Given the description of an element on the screen output the (x, y) to click on. 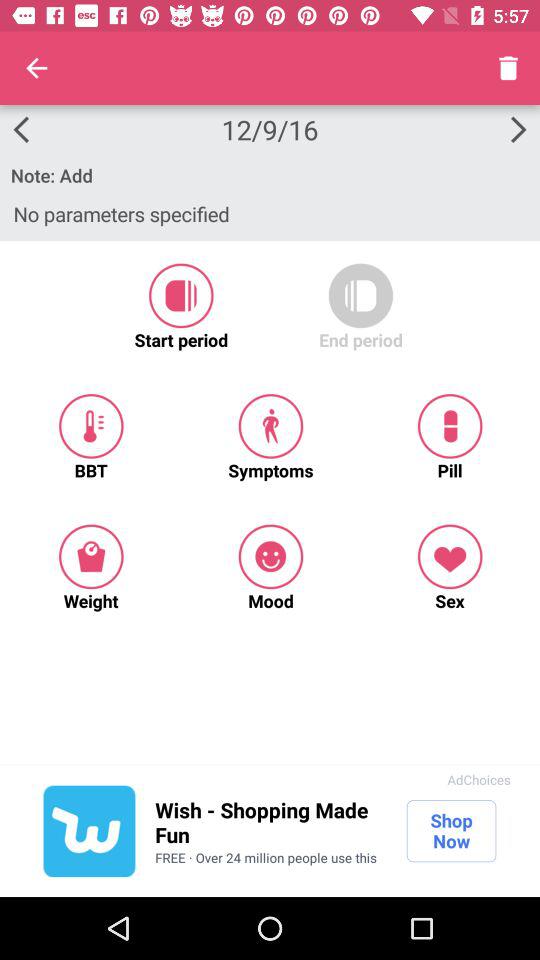
open the app to the left of shop now app (270, 821)
